Given the description of an element on the screen output the (x, y) to click on. 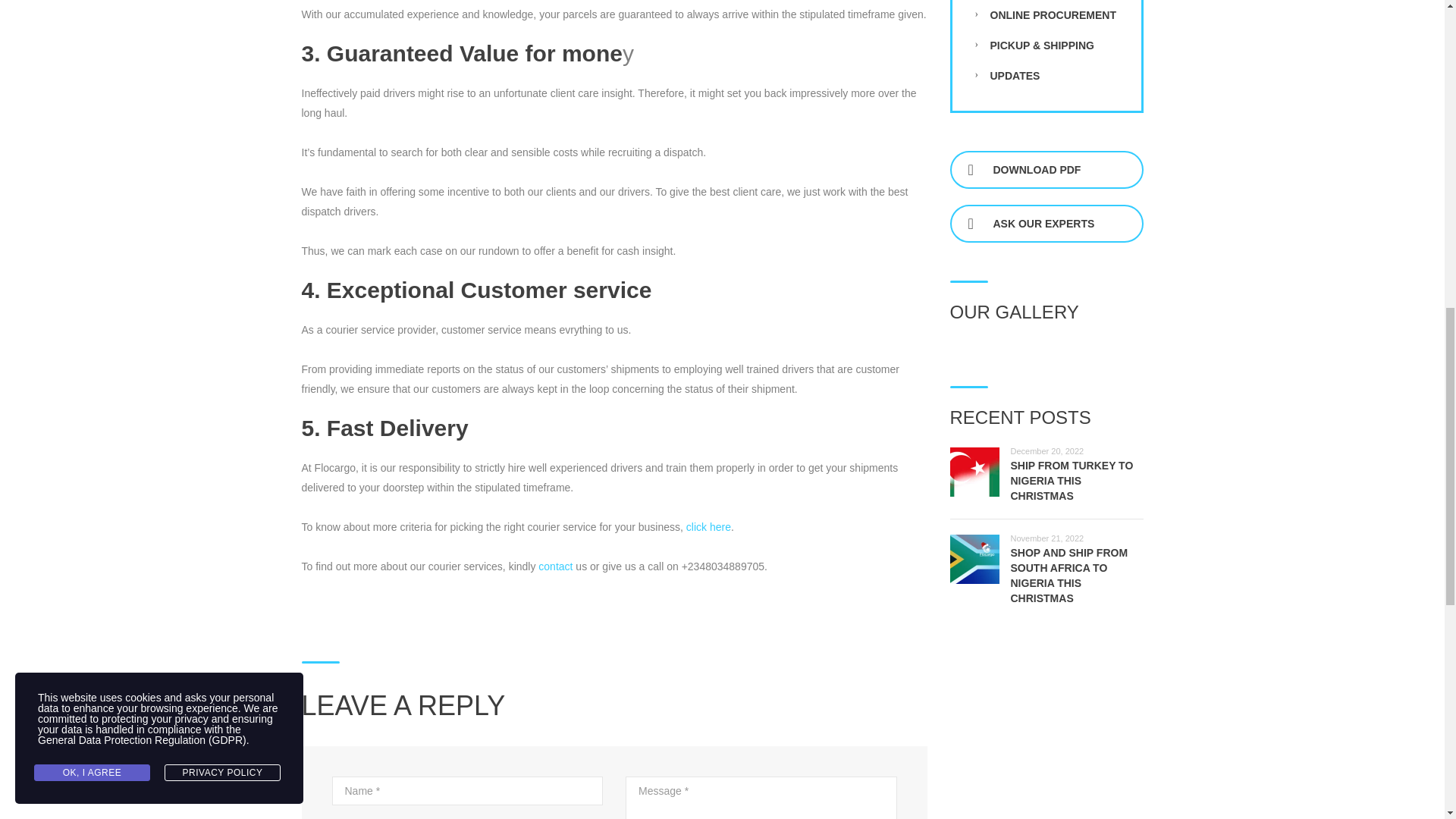
contact (555, 566)
click here (707, 526)
